Given the description of an element on the screen output the (x, y) to click on. 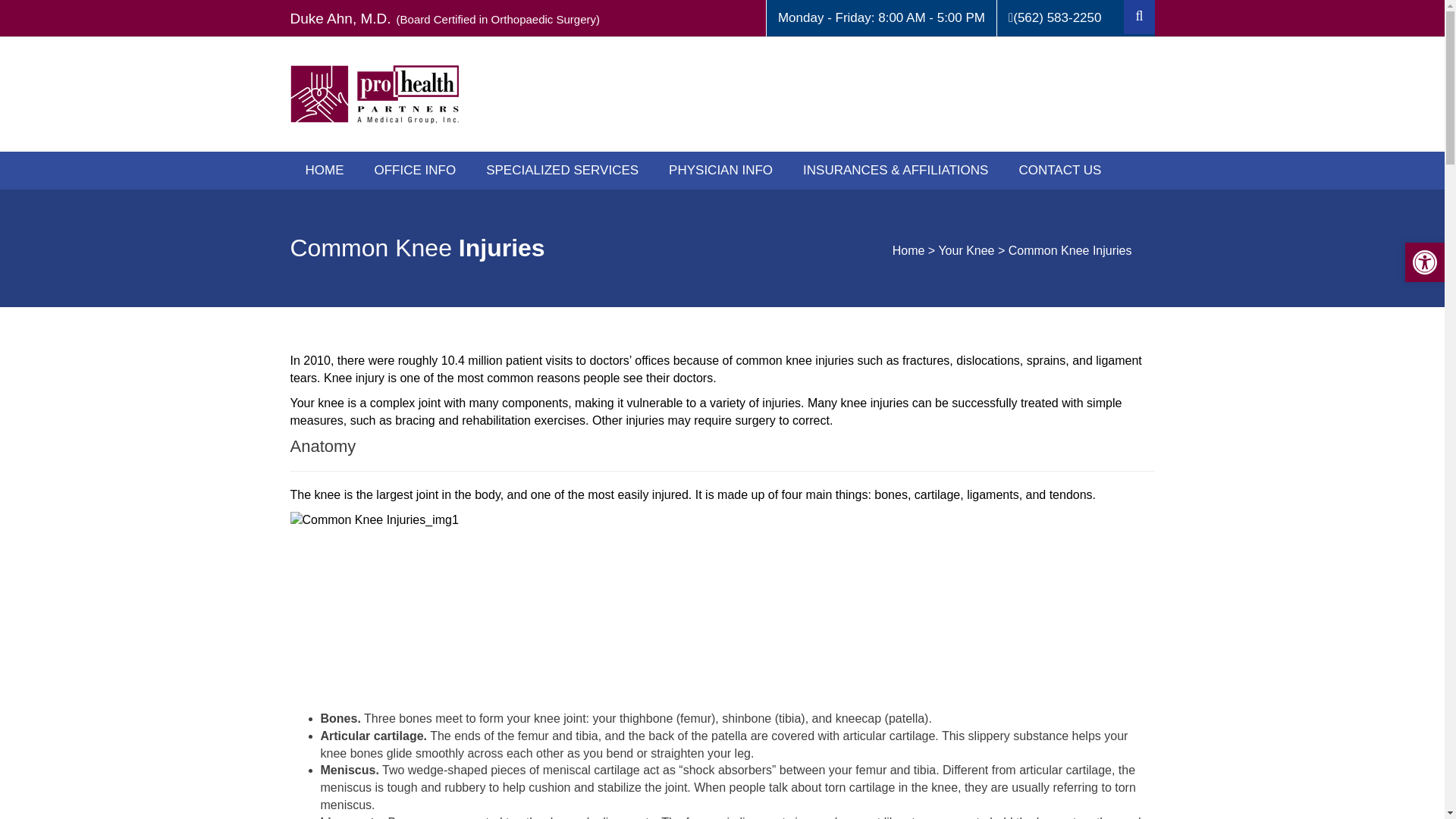
PHYSICIAN INFO (720, 170)
CONTACT US (1059, 170)
Your Knee (965, 250)
Home (908, 250)
Accessibility Tools (1424, 262)
SPECIALIZED SERVICES (561, 170)
To Search button (1139, 17)
HOME (323, 170)
OFFICE INFO (415, 170)
